Given the description of an element on the screen output the (x, y) to click on. 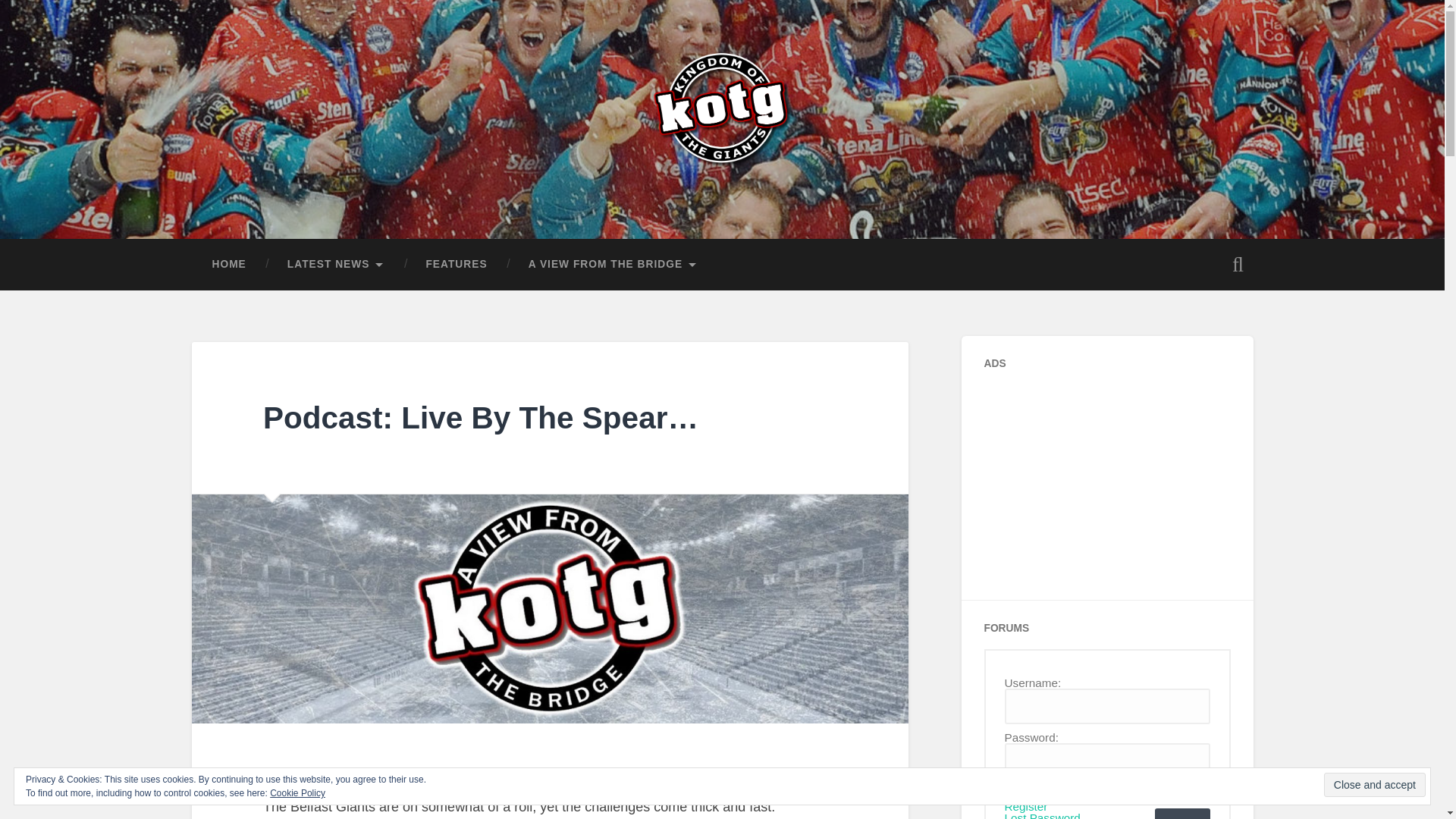
LATEST NEWS (336, 264)
HOME (228, 264)
Close and accept (1374, 784)
Register (1025, 806)
Kingdom of the Giants (342, 200)
A VIEW FROM THE BRIDGE (613, 264)
forever (1011, 793)
Lost Password (1042, 815)
FEATURES (455, 264)
Log In (1181, 813)
Register (1025, 806)
Advertisement (1097, 479)
